Given the description of an element on the screen output the (x, y) to click on. 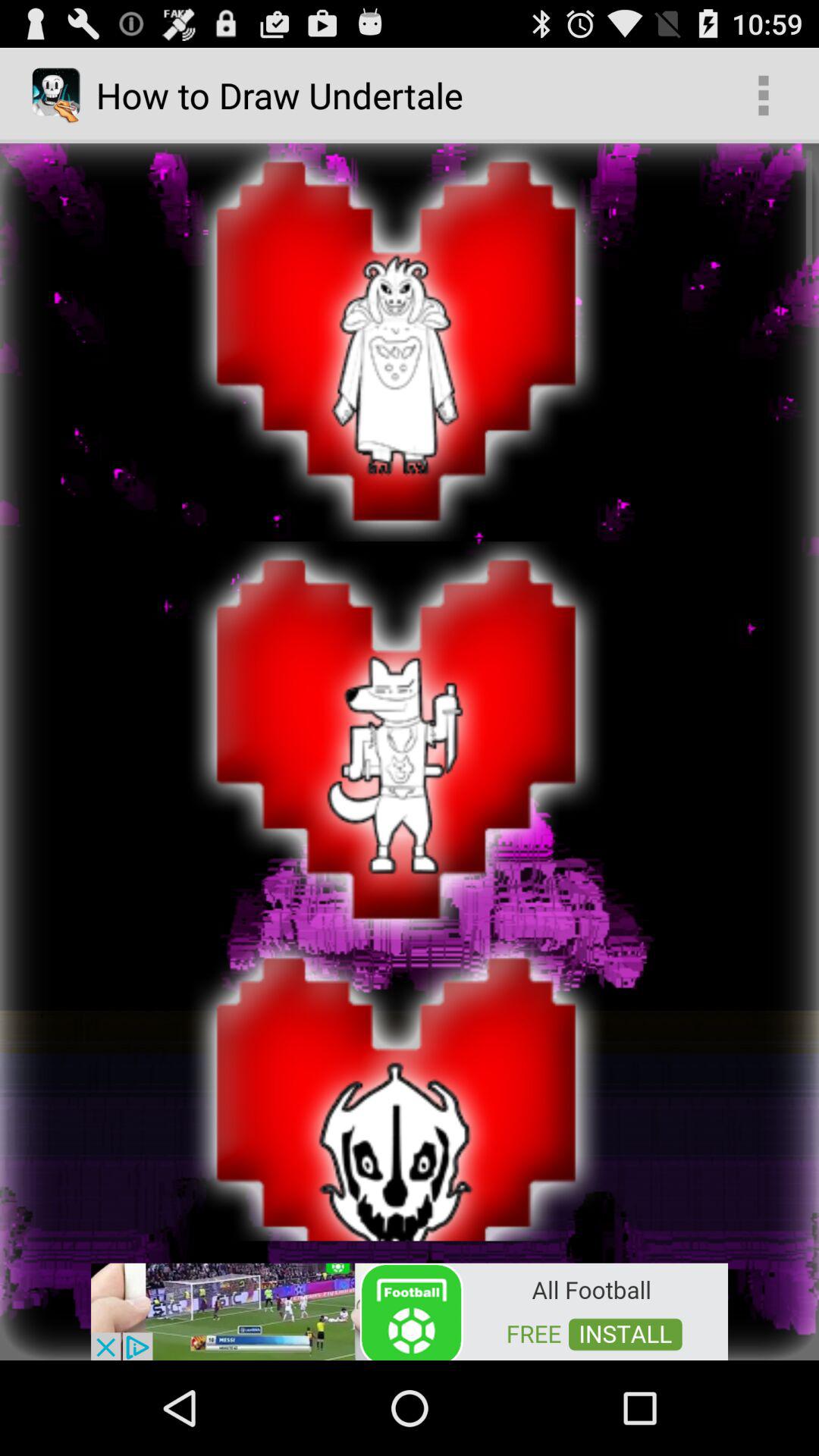
open advertisement (409, 1310)
